Given the description of an element on the screen output the (x, y) to click on. 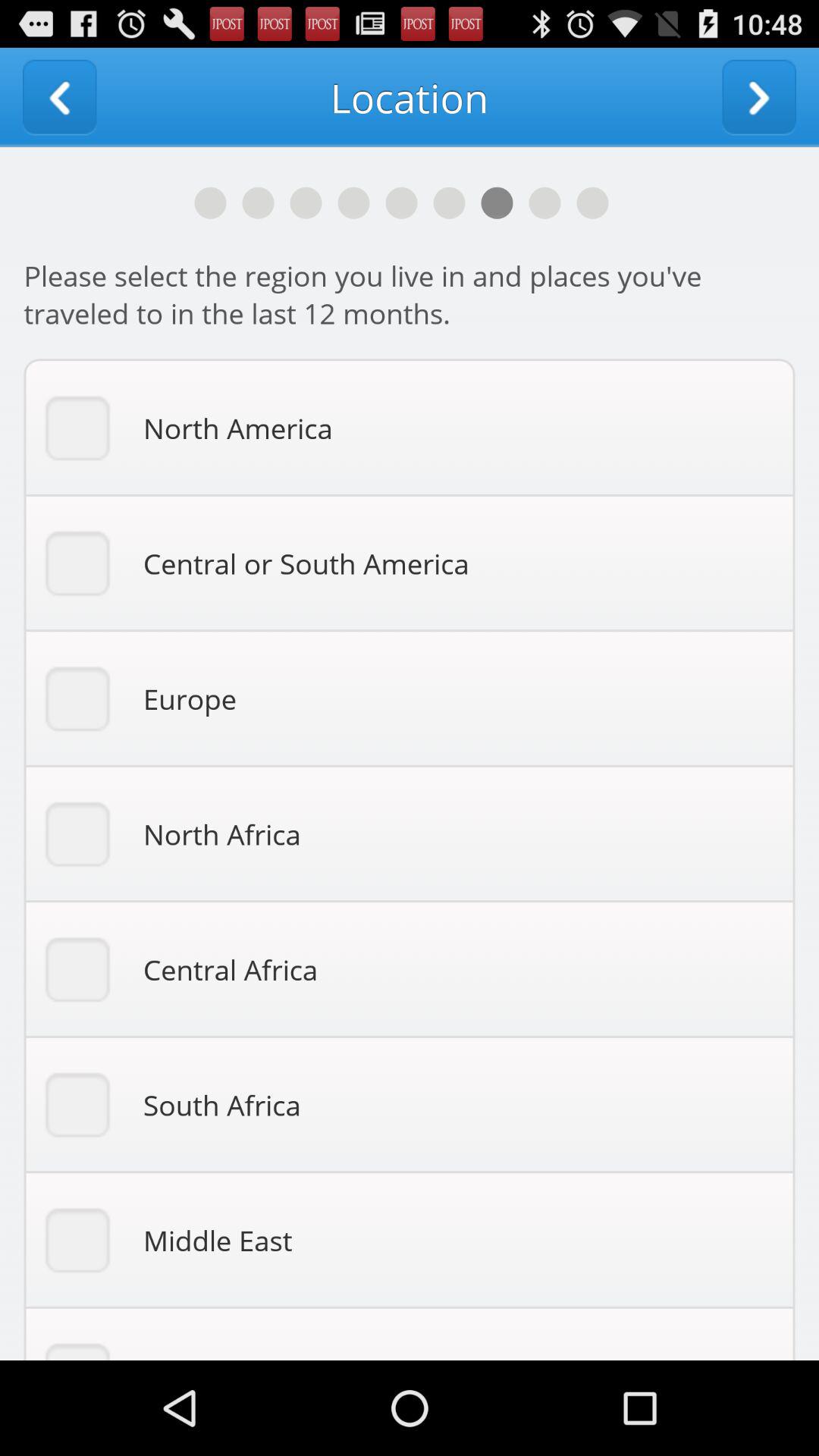
page forward (759, 97)
